Given the description of an element on the screen output the (x, y) to click on. 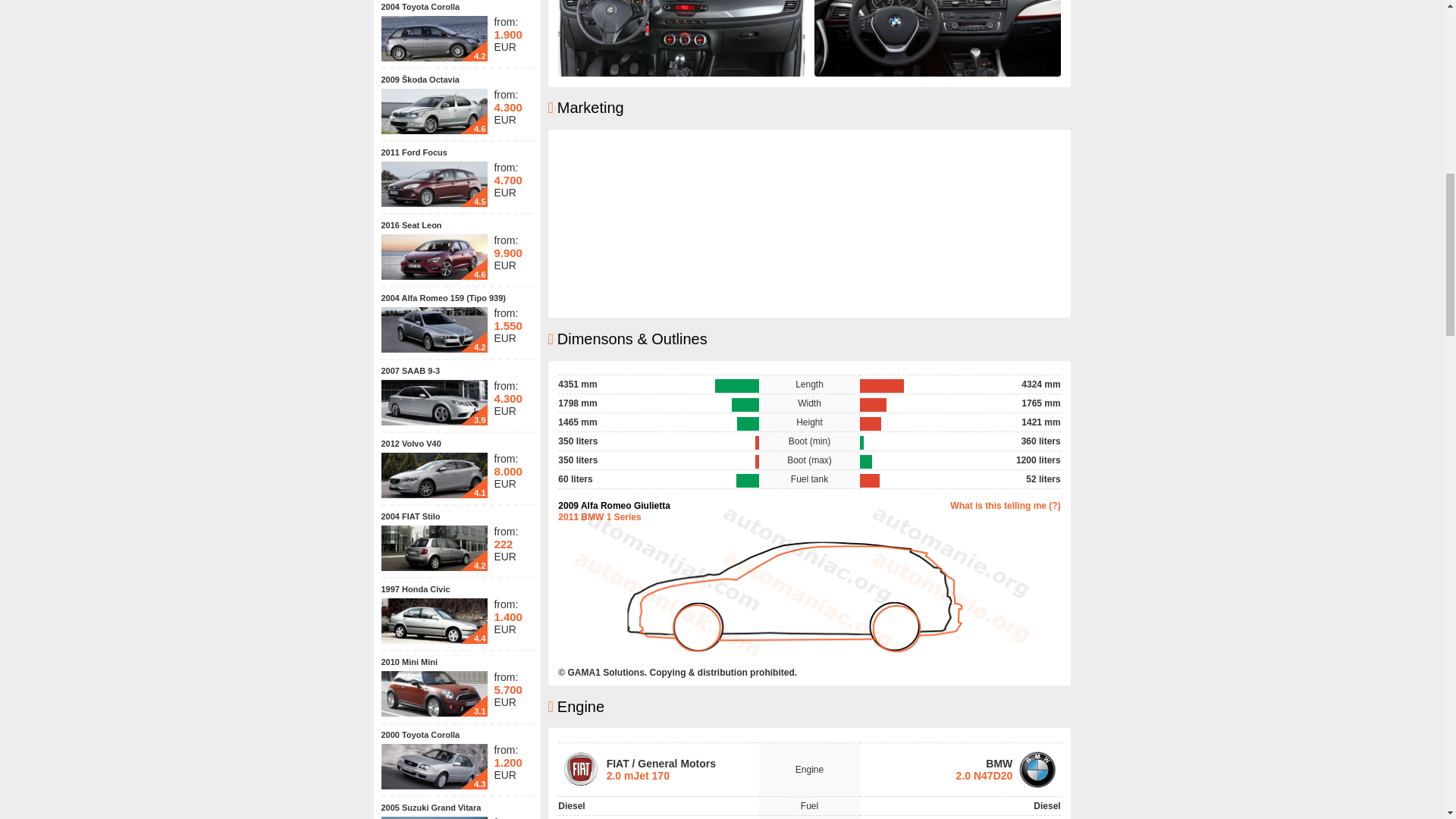
2011 Ford Focus (413, 152)
2016 Seat Leon (410, 225)
2004 Toyota Corolla (420, 6)
